Given the description of an element on the screen output the (x, y) to click on. 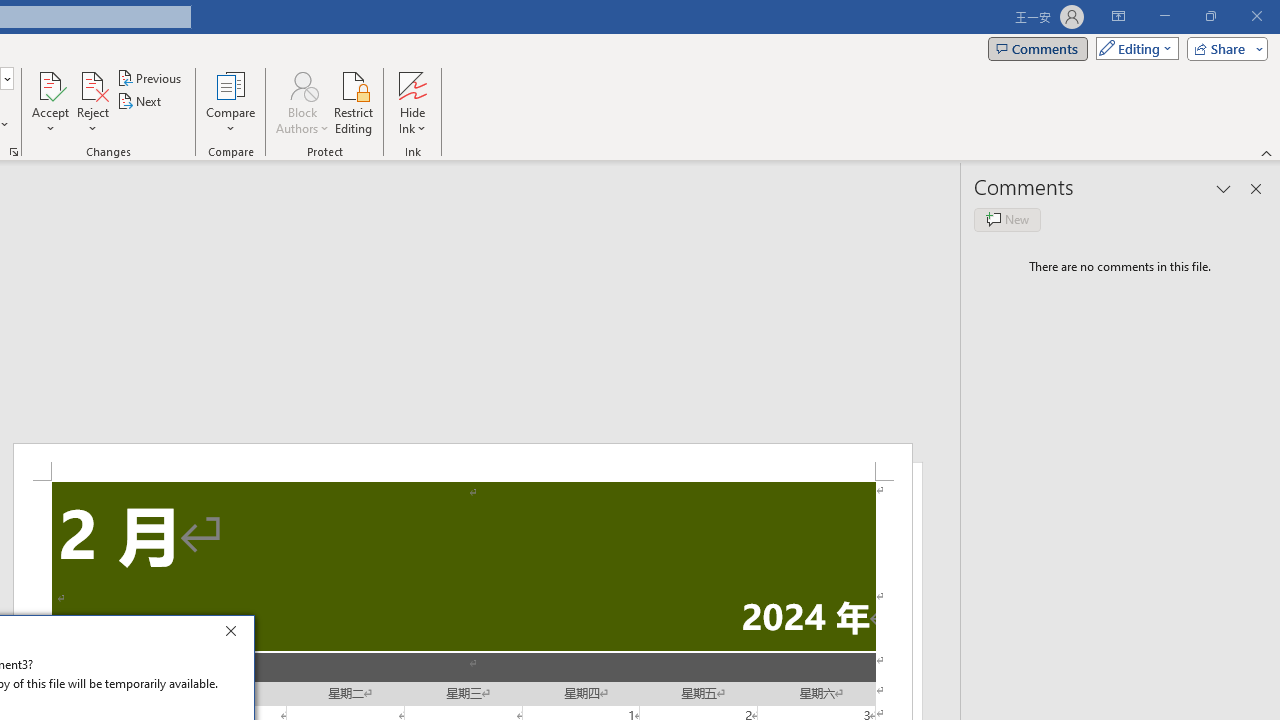
Block Authors (302, 102)
Previous (150, 78)
Restrict Editing (353, 102)
Accept (50, 102)
Change Tracking Options... (13, 151)
Compare (230, 102)
Hide Ink (412, 102)
Next (140, 101)
